Given the description of an element on the screen output the (x, y) to click on. 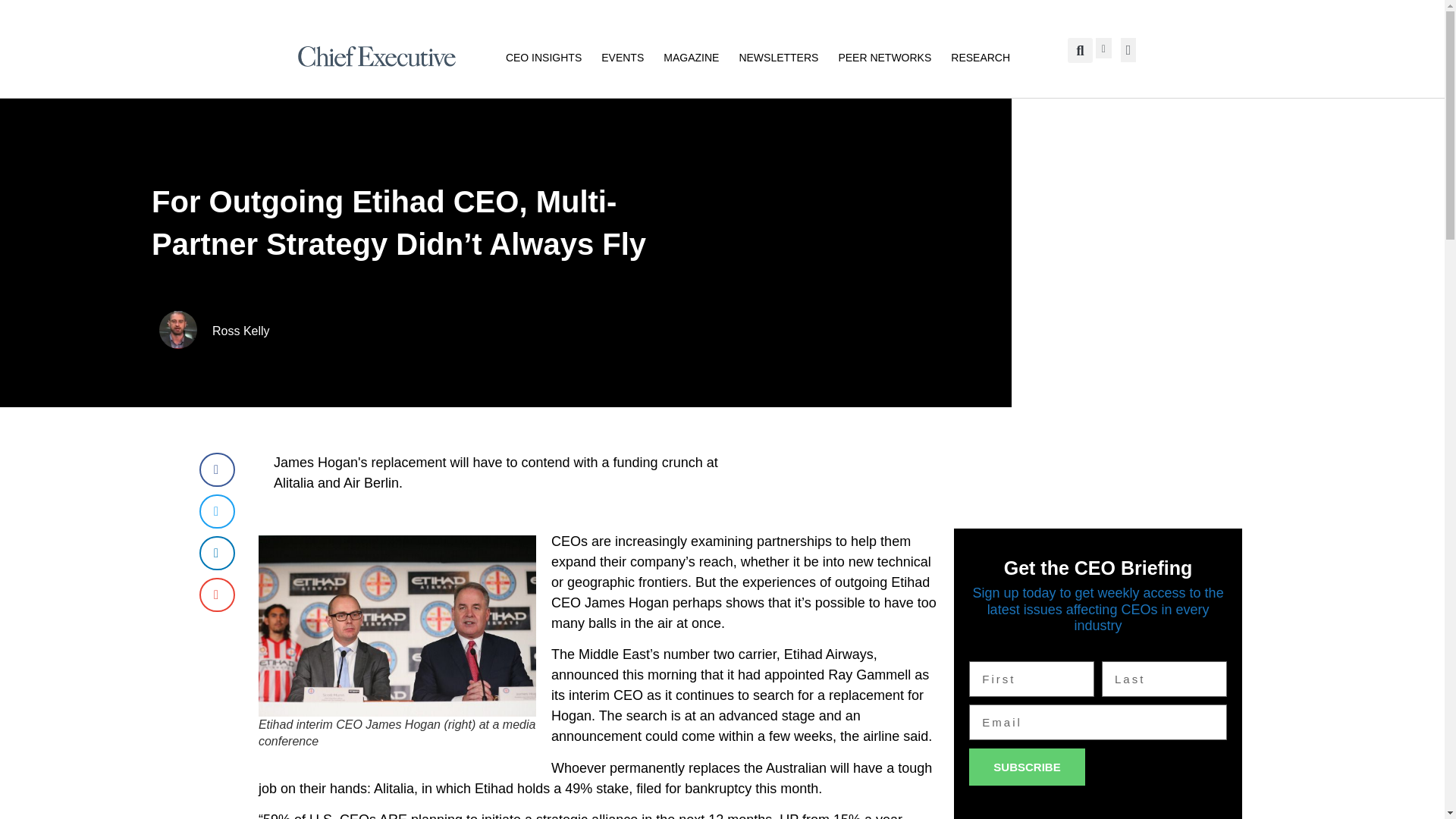
CEO INSIGHTS (543, 56)
NEWSLETTERS (778, 56)
RESEARCH (980, 56)
MAGAZINE (691, 56)
EVENTS (622, 56)
PEER NETWORKS (884, 56)
